Given the description of an element on the screen output the (x, y) to click on. 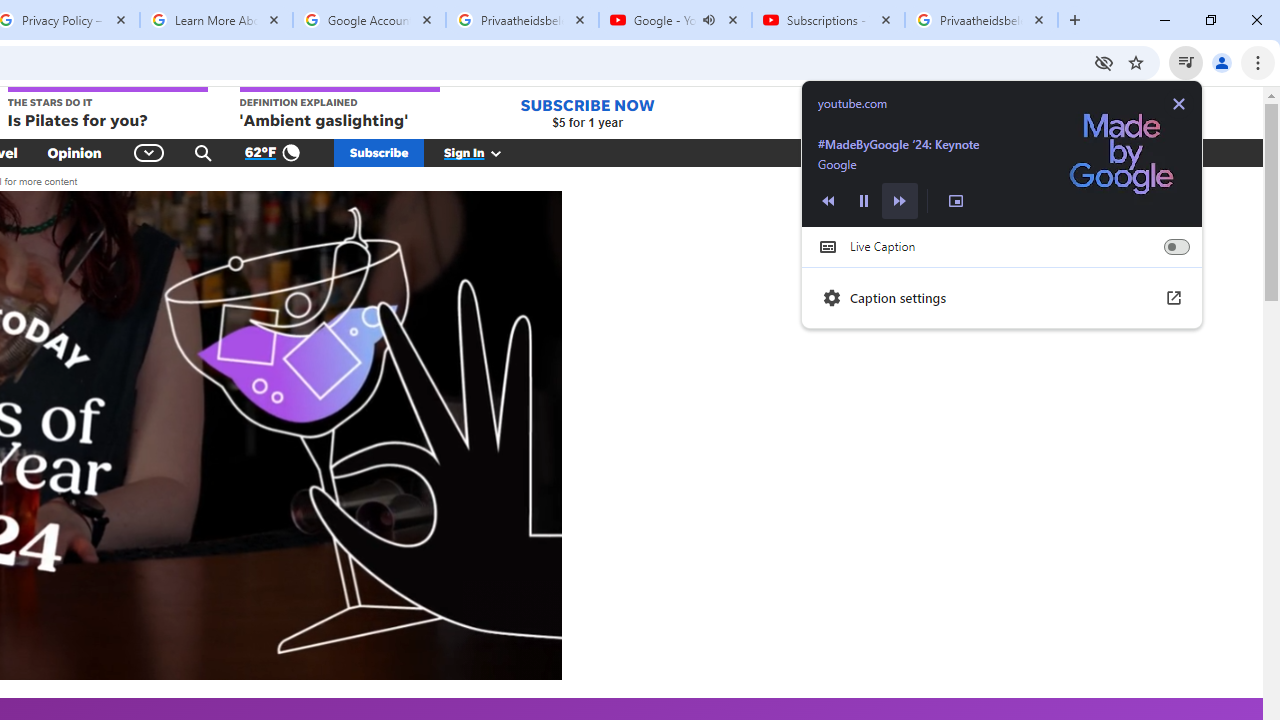
Mute tab (708, 20)
Play (863, 200)
DEFINITION EXPLAINED 'Ambient gaslighting' (339, 109)
Sign In (483, 152)
Seek Backward (828, 200)
Opinion (74, 152)
Google - YouTube - Audio playing (675, 20)
Subscriptions - YouTube (827, 20)
THE STARS DO IT Is Pilates for you? (106, 109)
Global Navigation (149, 152)
Third-party cookies blocked (1103, 62)
SUBSCRIBE NOW $5 for 1 year (587, 112)
